Given the description of an element on the screen output the (x, y) to click on. 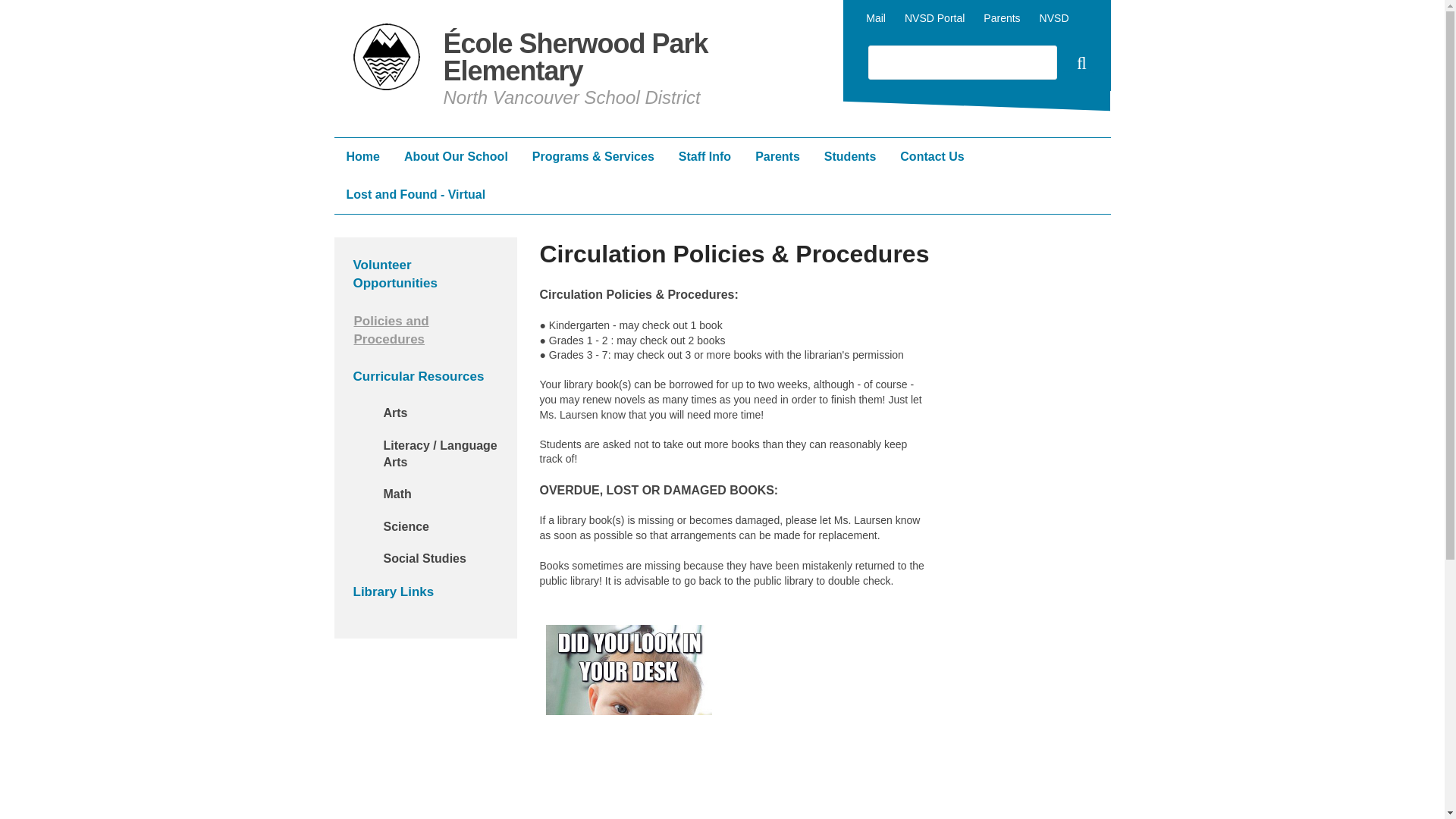
Search (1079, 64)
About Our School (455, 157)
Parents (1002, 18)
Mail (875, 18)
Back to Home (387, 58)
NVSD (1053, 18)
Staff Info (704, 157)
Parents (777, 157)
Search... (962, 62)
NVSD Portal (933, 18)
